Given the description of an element on the screen output the (x, y) to click on. 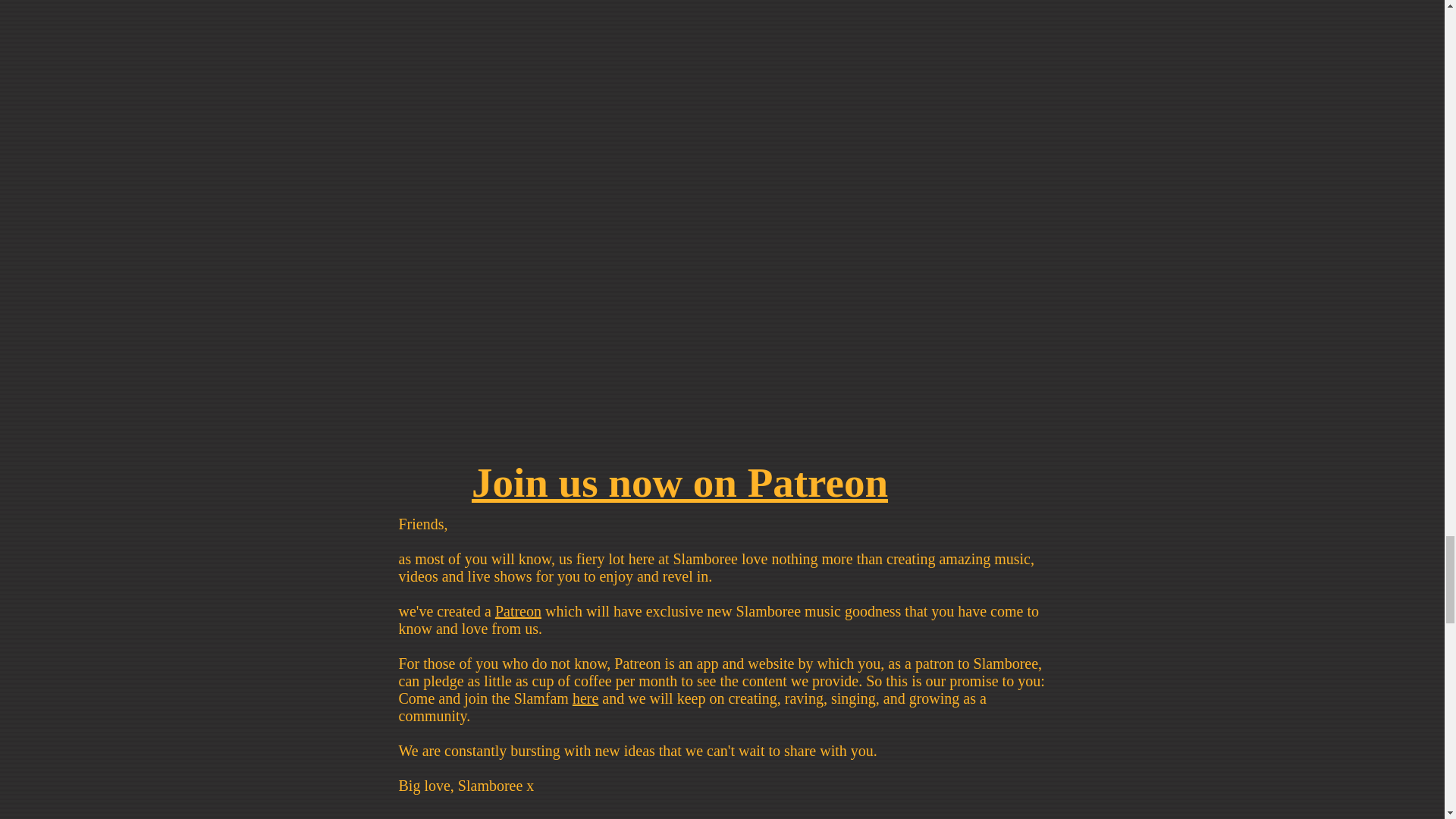
here (585, 698)
Patreon (518, 610)
Join us now on Patreon (679, 482)
